Given the description of an element on the screen output the (x, y) to click on. 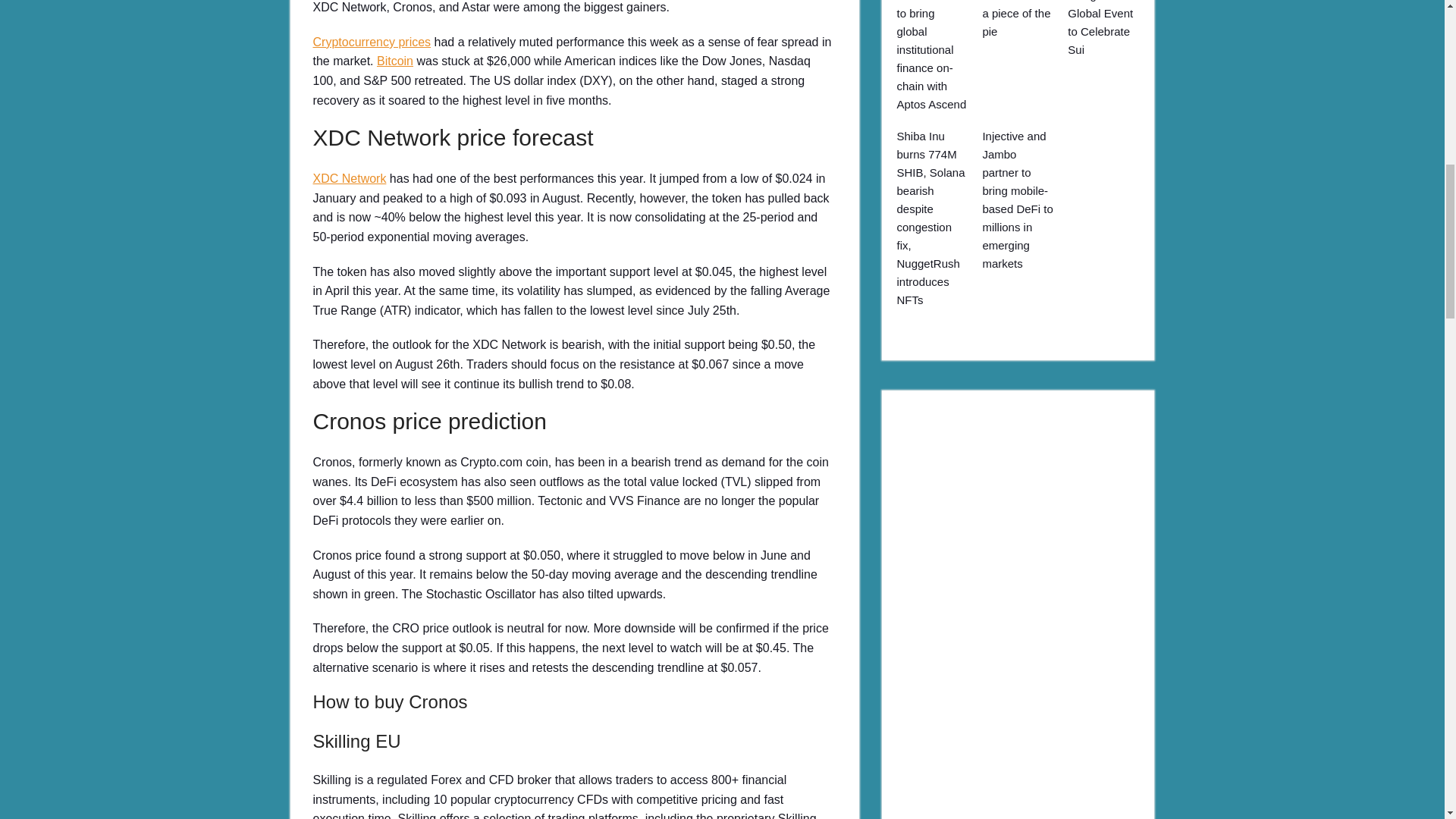
Bitcoin (395, 60)
Cryptocurrency prices (371, 42)
XDC Network (349, 178)
